Given the description of an element on the screen output the (x, y) to click on. 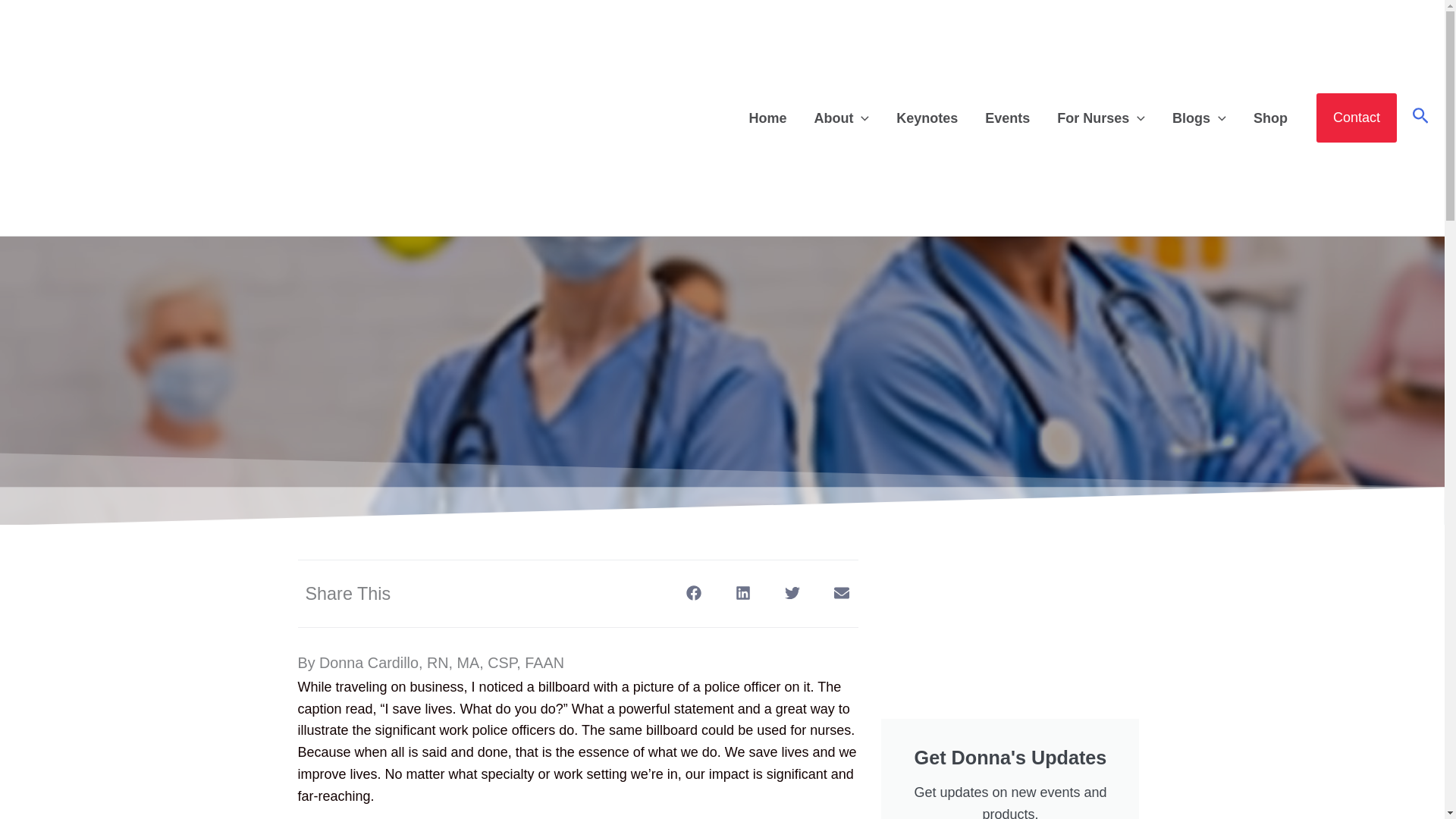
Blogs (1199, 117)
Contact (1356, 117)
Events (1007, 117)
For Nurses (1100, 117)
Shop (1270, 117)
Home (767, 117)
Keynotes (926, 117)
About (840, 117)
